Given the description of an element on the screen output the (x, y) to click on. 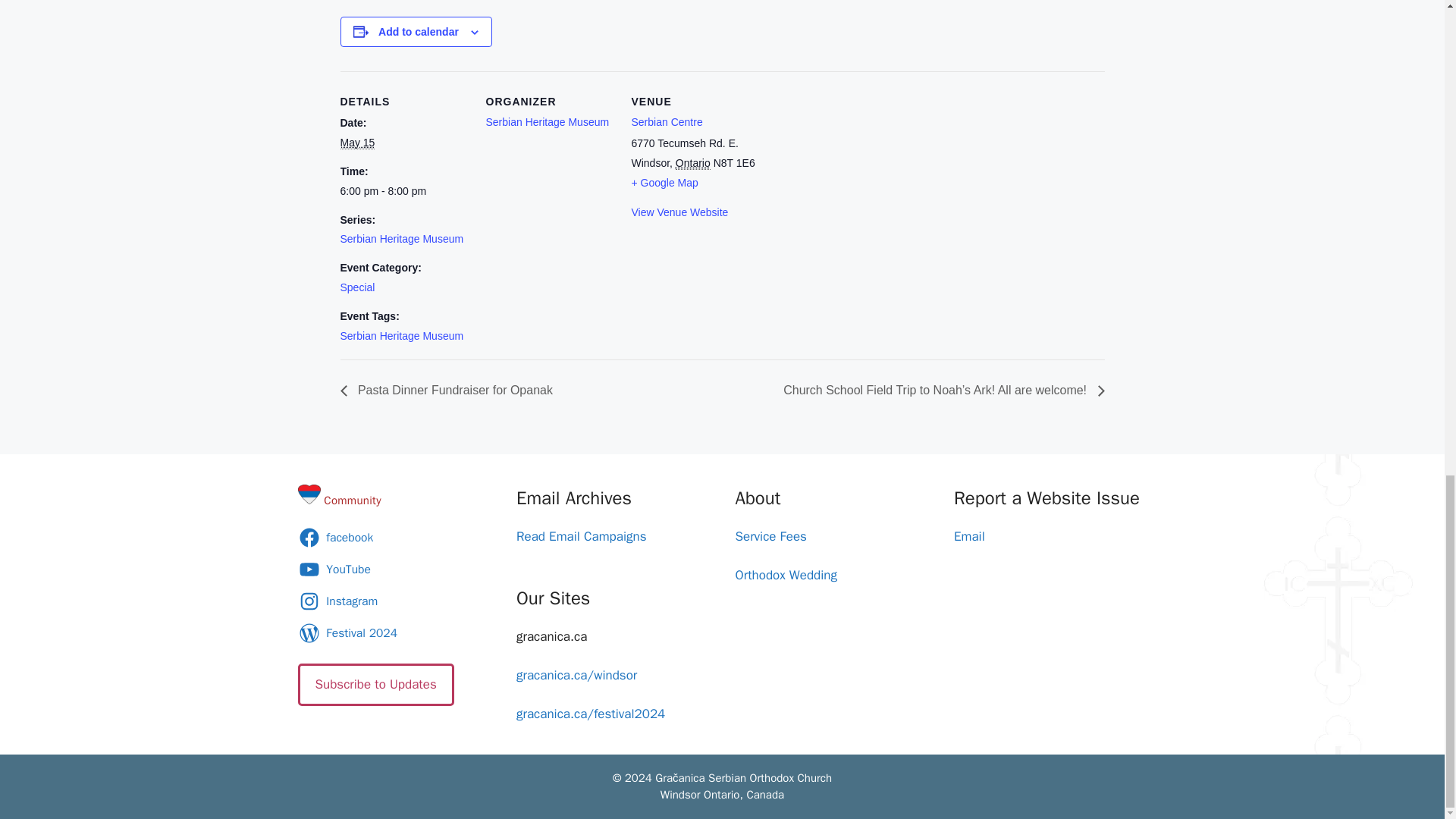
2024-05-15 (356, 142)
Serbian Heritage Museum (401, 238)
Google maps iframe displaying the address to Serbian Centre (856, 175)
Scroll back to top (1406, 392)
Click to view a Google Map (663, 182)
2024-05-15 (403, 191)
Serbian Heritage Museum (546, 121)
Ontario (692, 163)
